Given the description of an element on the screen output the (x, y) to click on. 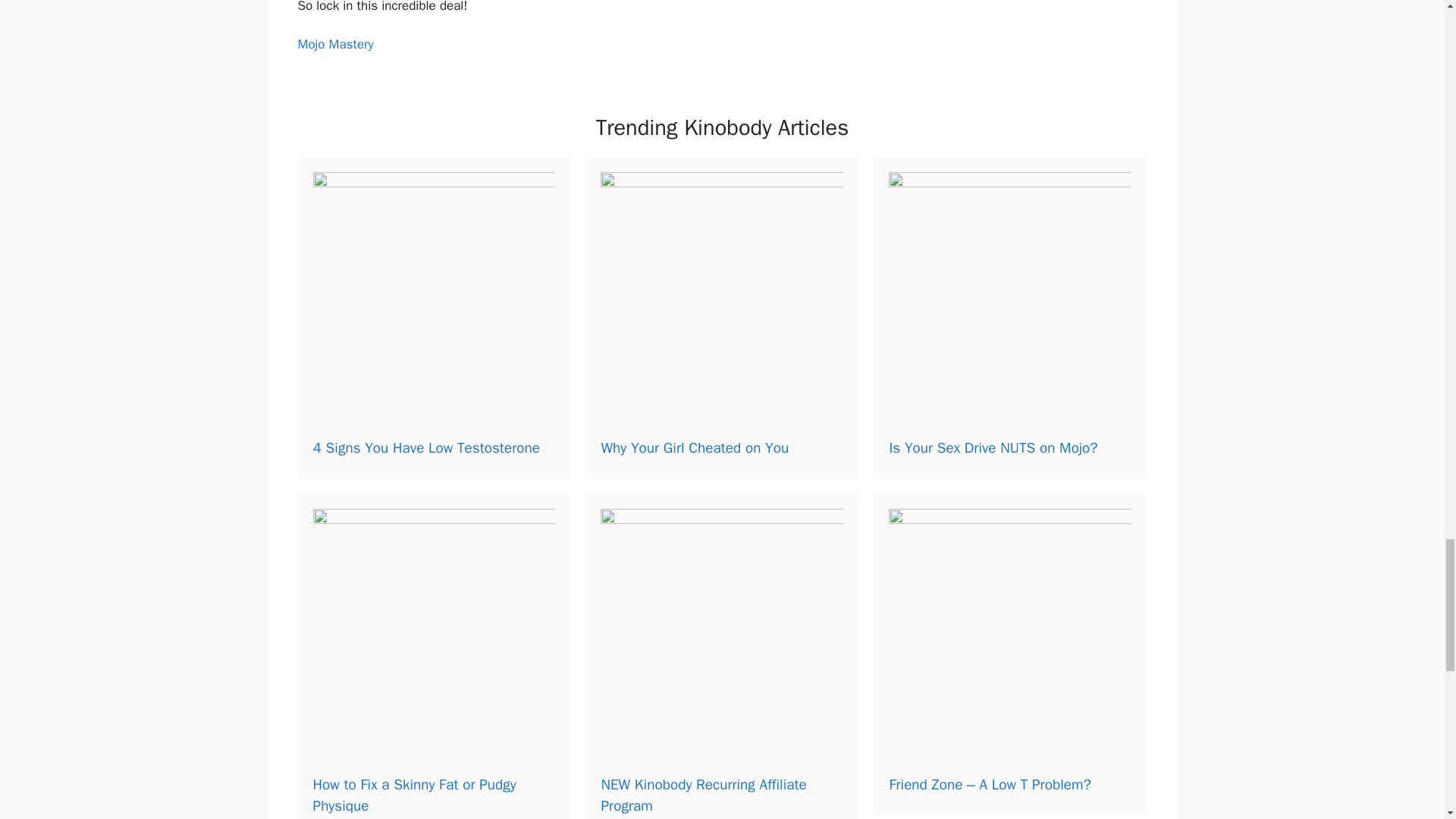
Is Your Sex Drive NUTS on Mojo? (992, 447)
Mojo Mastery (334, 44)
How to Fix a Skinny Fat or Pudgy Physique (414, 795)
Why Your Girl Cheated on You (694, 447)
NEW Kinobody Recurring Affiliate Program (702, 795)
4 Signs You Have Low Testosterone (425, 447)
